Given the description of an element on the screen output the (x, y) to click on. 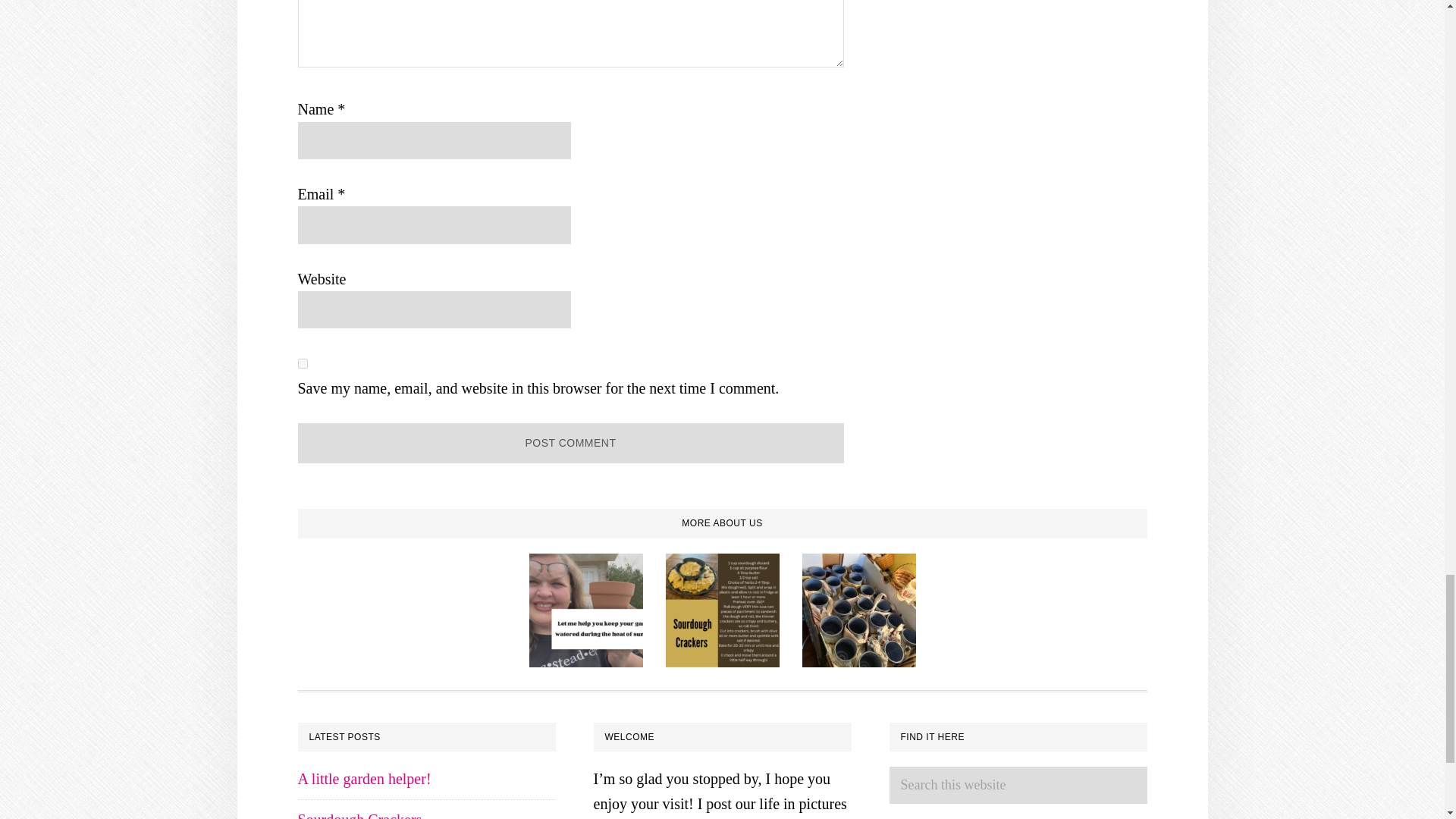
yes (302, 363)
Post Comment (570, 443)
